Given the description of an element on the screen output the (x, y) to click on. 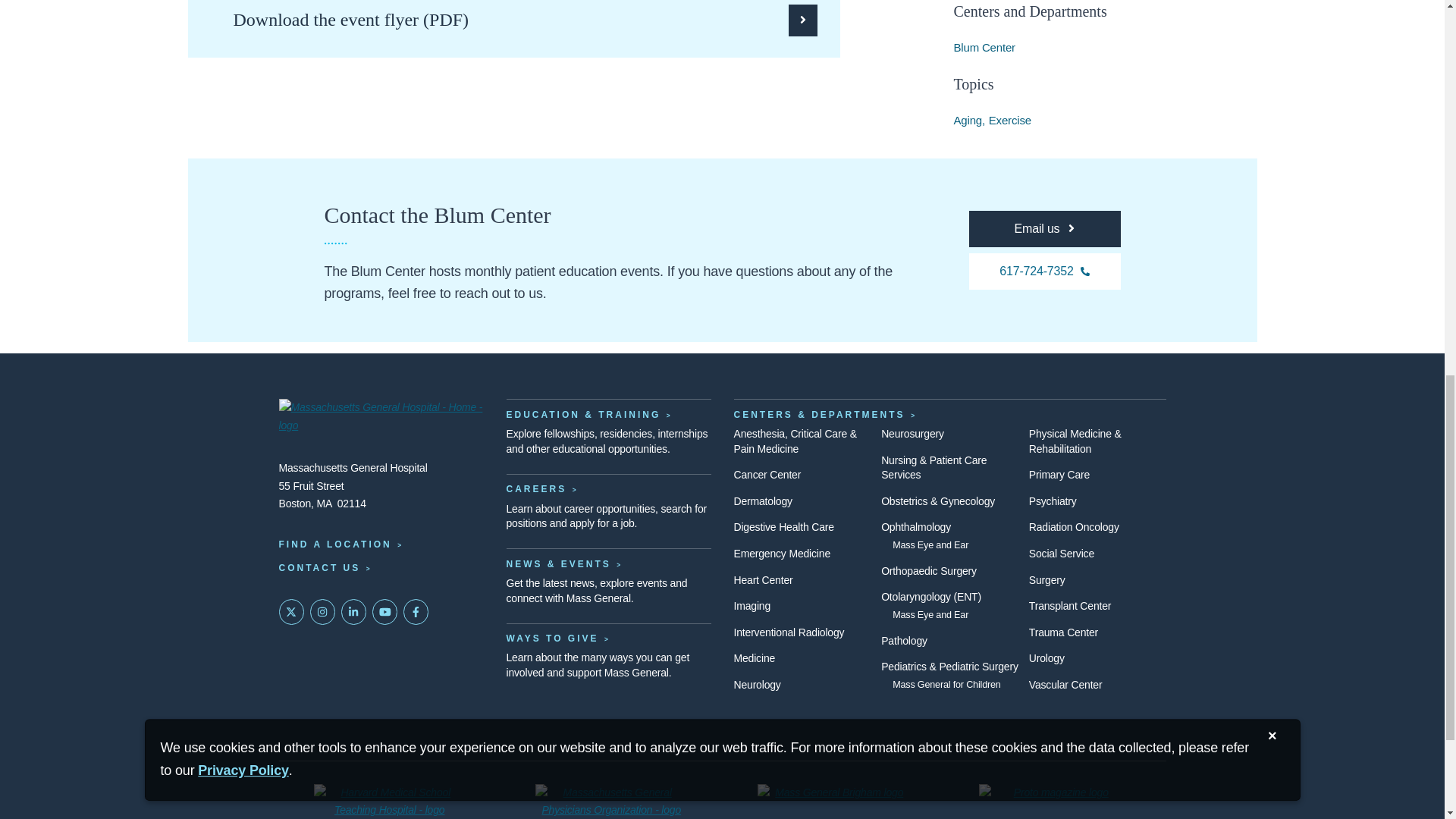
Massachusetts General Hospital - Home (381, 417)
